Given the description of an element on the screen output the (x, y) to click on. 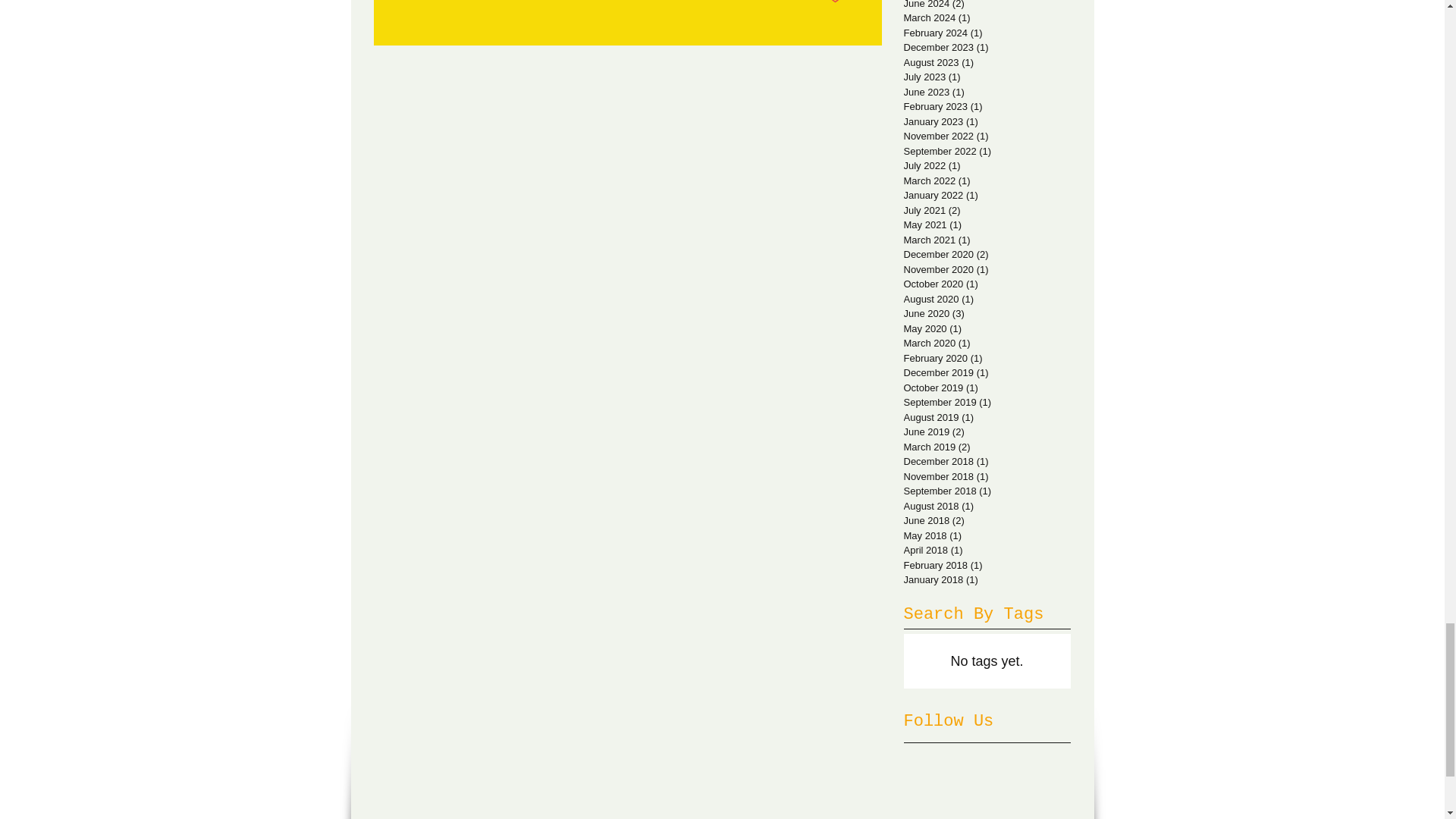
Post not marked as liked (835, 2)
